Given the description of an element on the screen output the (x, y) to click on. 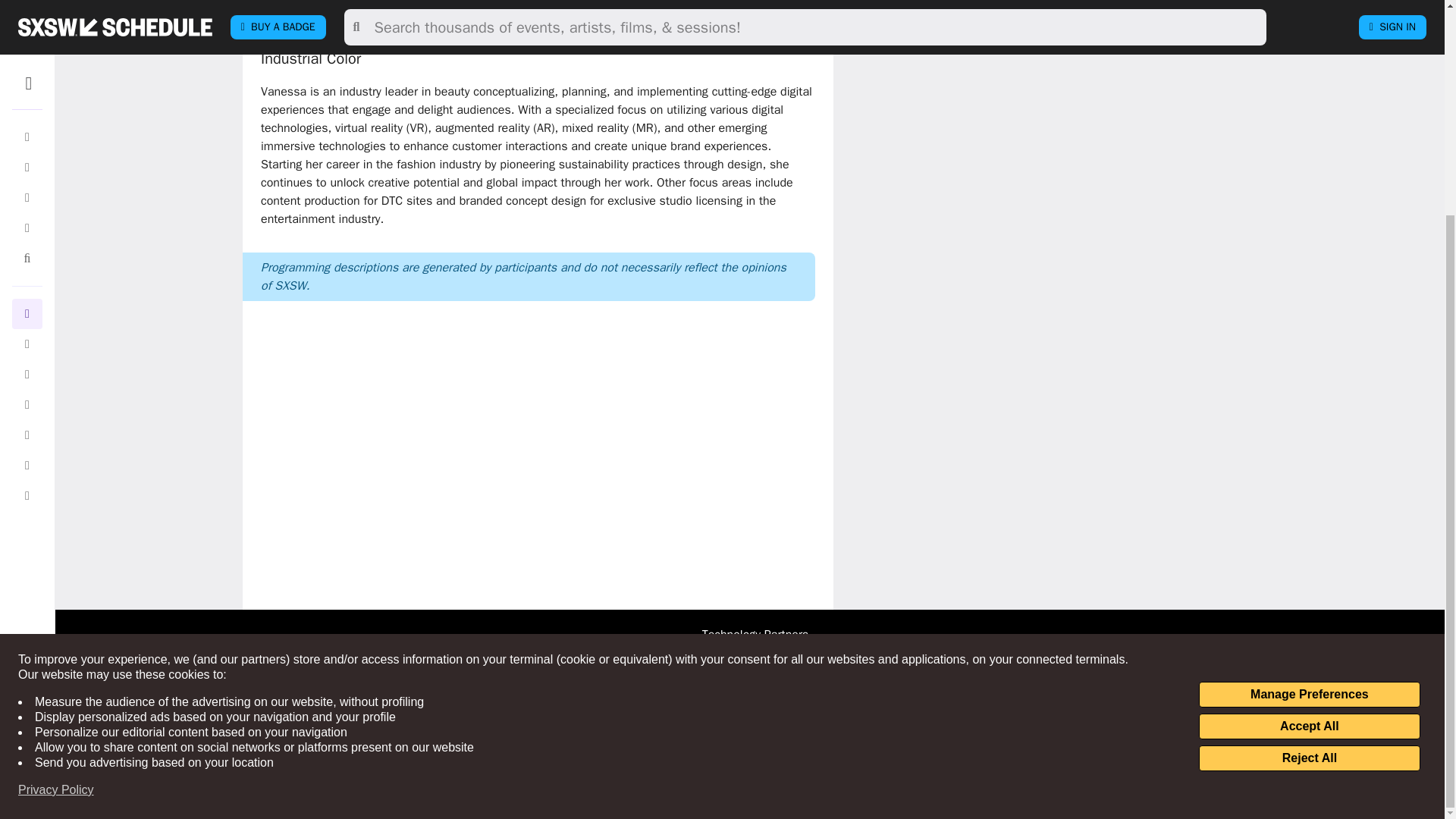
Accept All (1309, 444)
Manage Preferences (1309, 412)
Privacy Policy (55, 507)
Reject All (1309, 475)
